Given the description of an element on the screen output the (x, y) to click on. 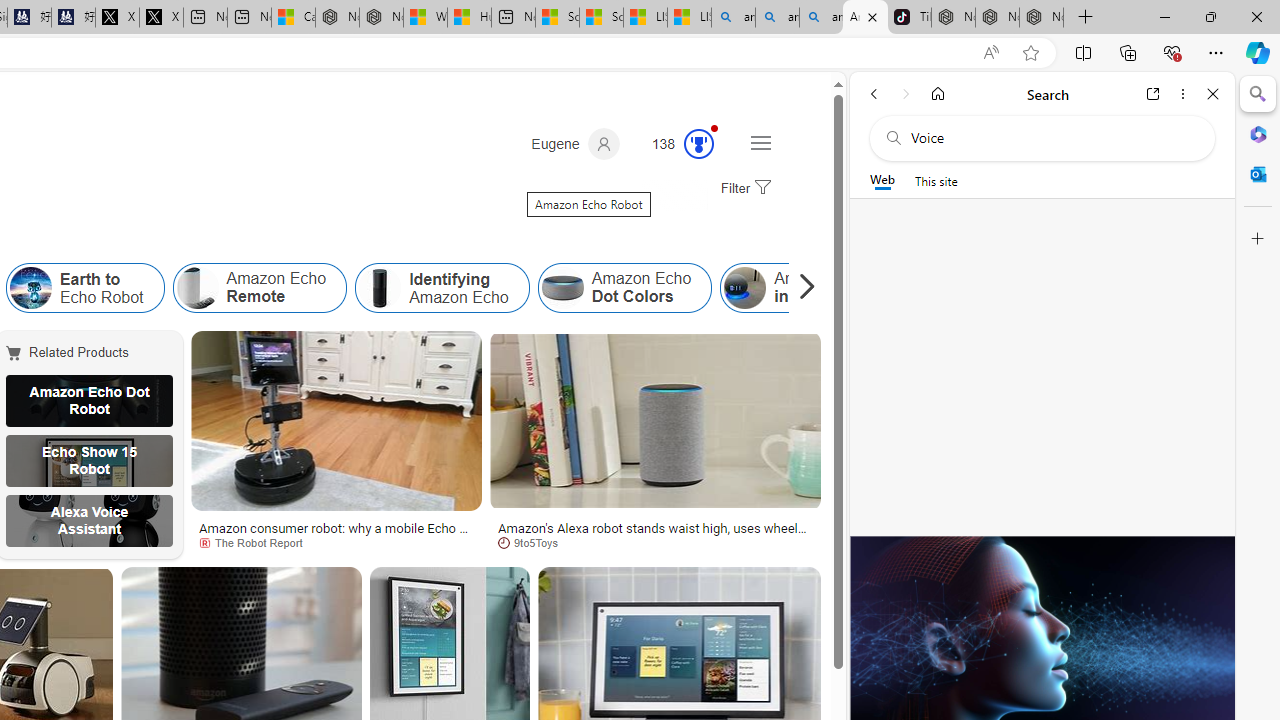
Huge shark washes ashore at New York City beach | Watch (469, 17)
Class: item col (806, 287)
